Given the description of an element on the screen output the (x, y) to click on. 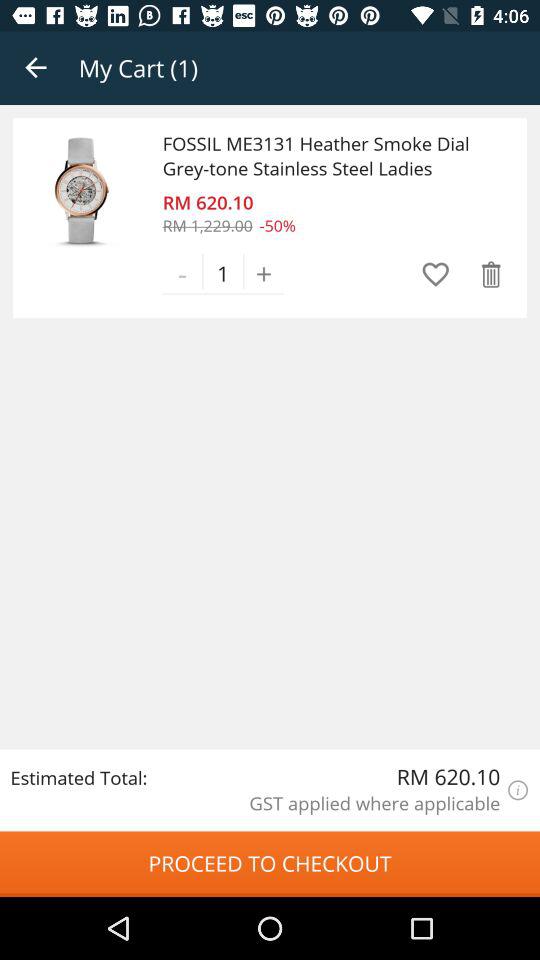
go back (36, 68)
